Given the description of an element on the screen output the (x, y) to click on. 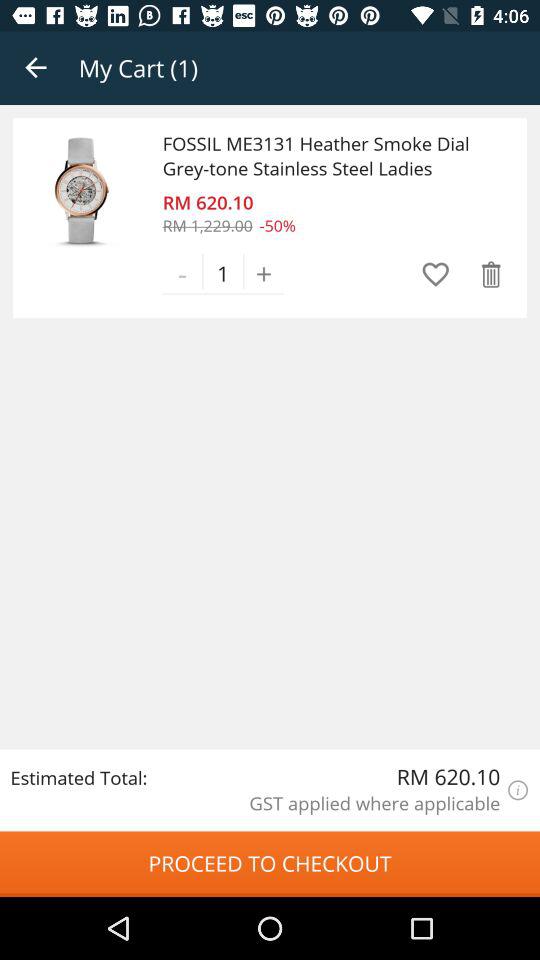
go back (36, 68)
